Given the description of an element on the screen output the (x, y) to click on. 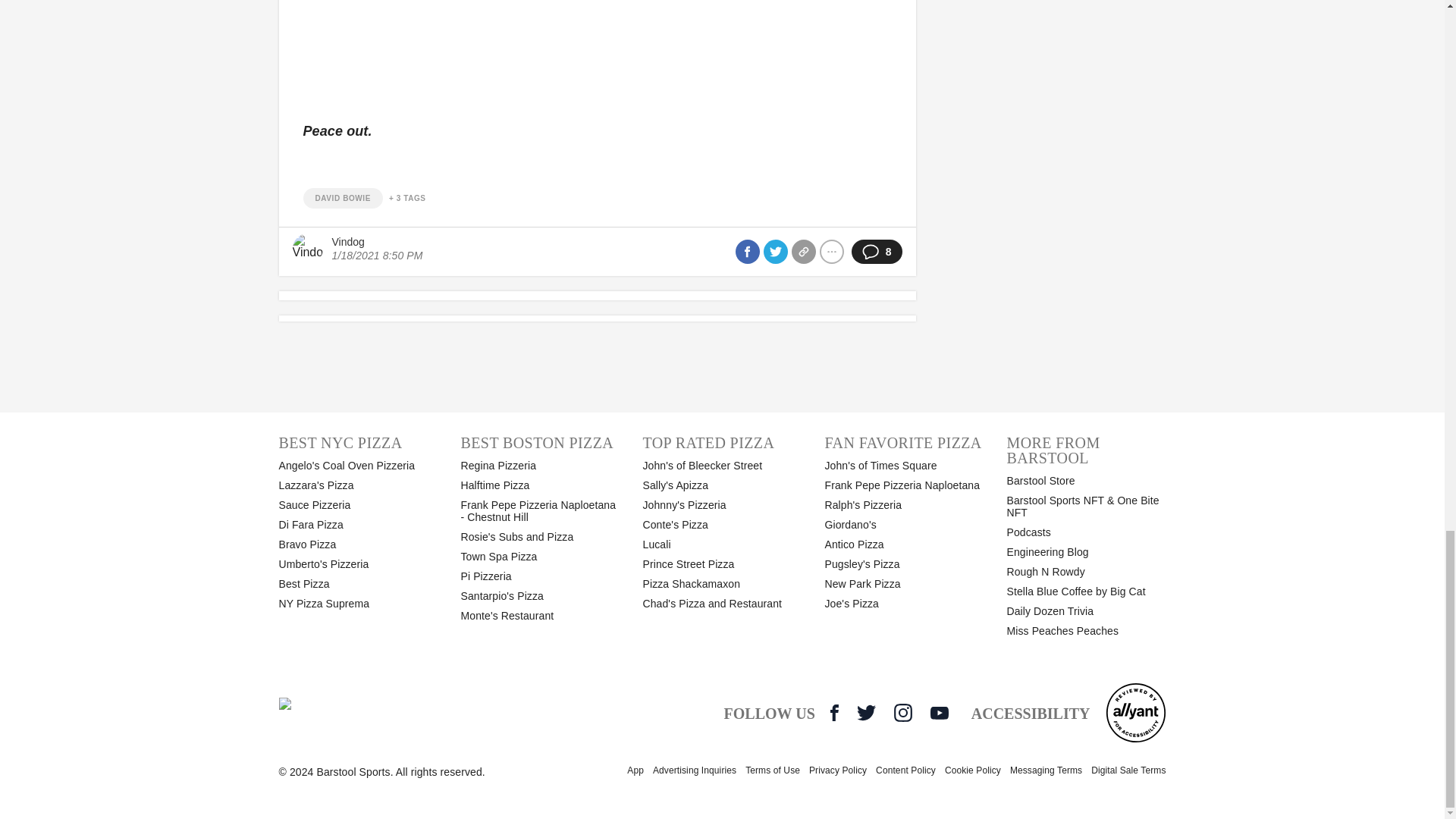
Twitter Icon (866, 712)
Instagram Icon (902, 712)
Reviewed by Allyant for accessibility (1135, 712)
YouTube Icon (939, 712)
